Given the description of an element on the screen output the (x, y) to click on. 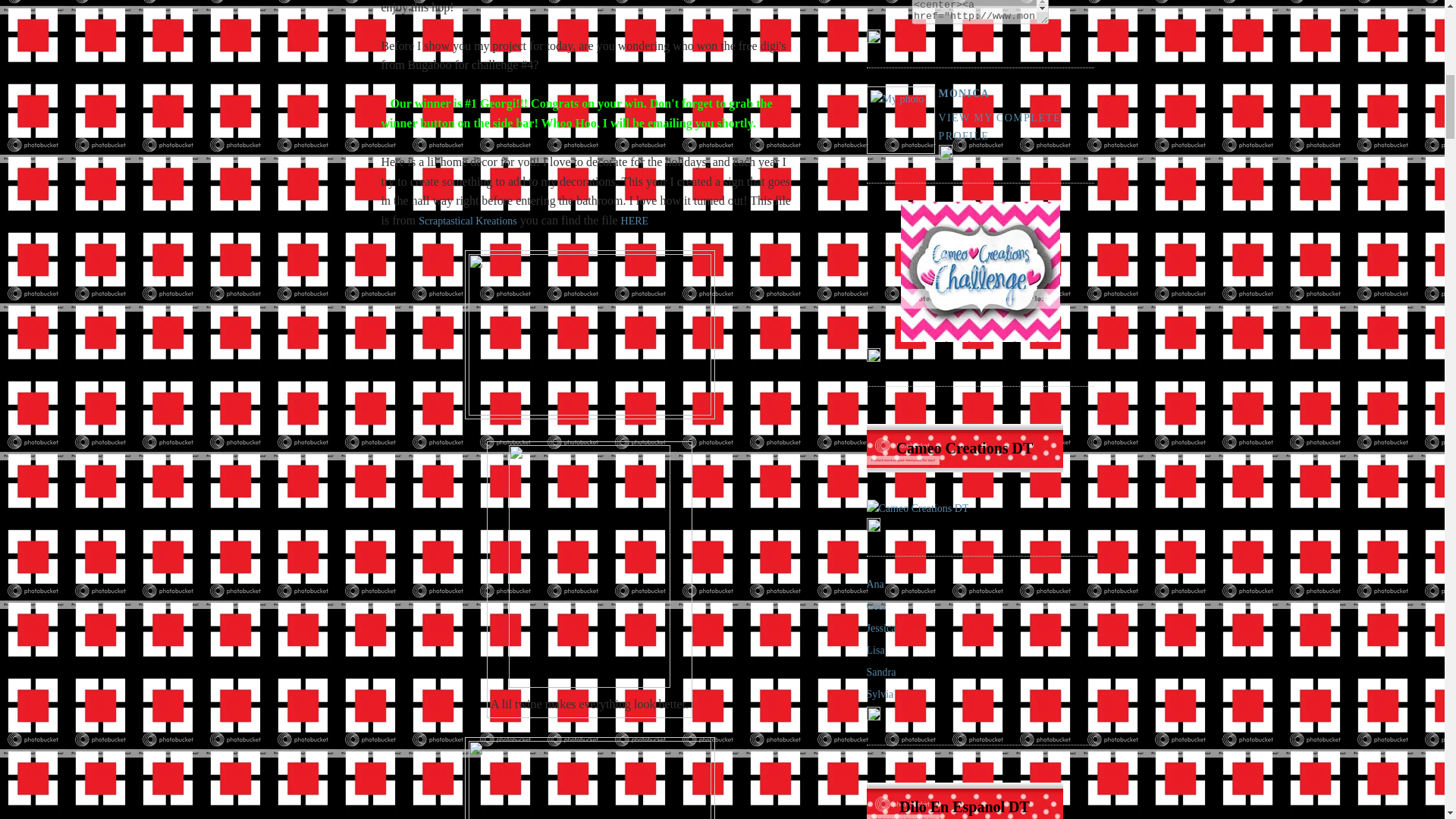
Scraptastical Kreations (467, 220)
HERE (635, 220)
